Given the description of an element on the screen output the (x, y) to click on. 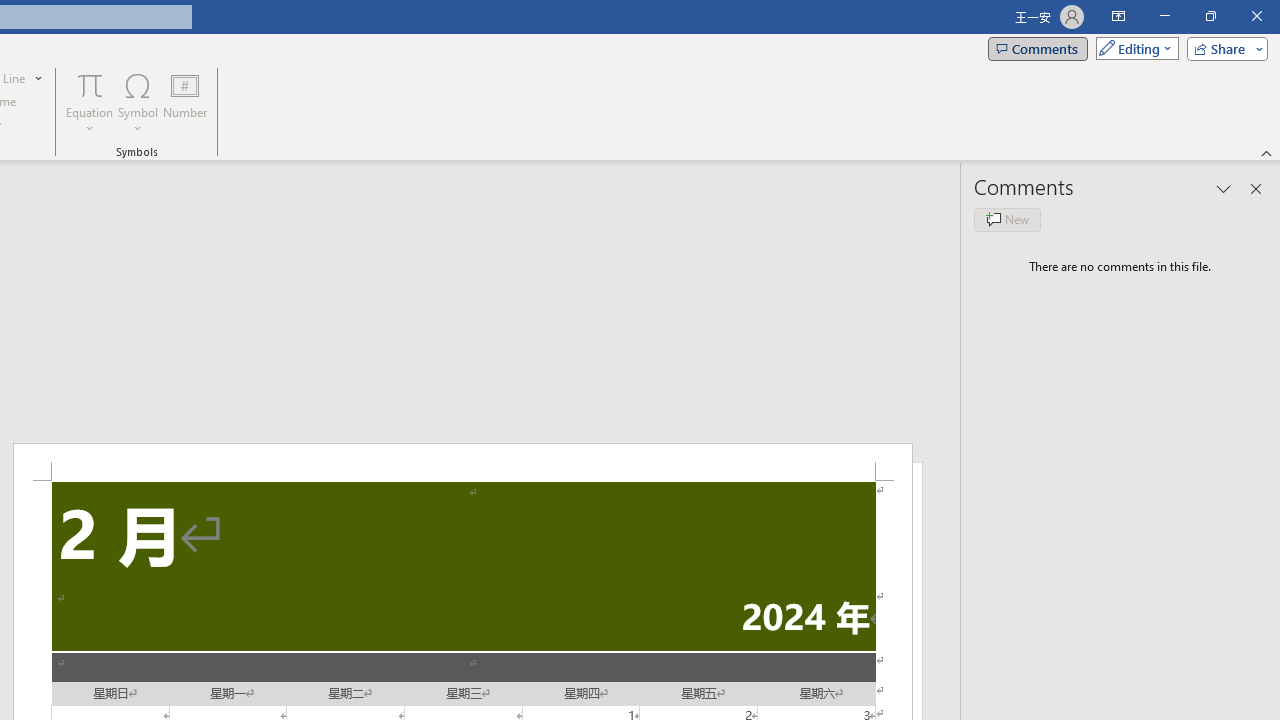
Close pane (1256, 188)
Collapse the Ribbon (1267, 152)
Equation (90, 102)
Task Pane Options (1224, 188)
Share (1223, 48)
Restore Down (1210, 16)
Close (1256, 16)
Symbol (138, 102)
Header -Section 2- (462, 461)
Mode (1133, 47)
Ribbon Display Options (1118, 16)
Comments (1038, 48)
